Given the description of an element on the screen output the (x, y) to click on. 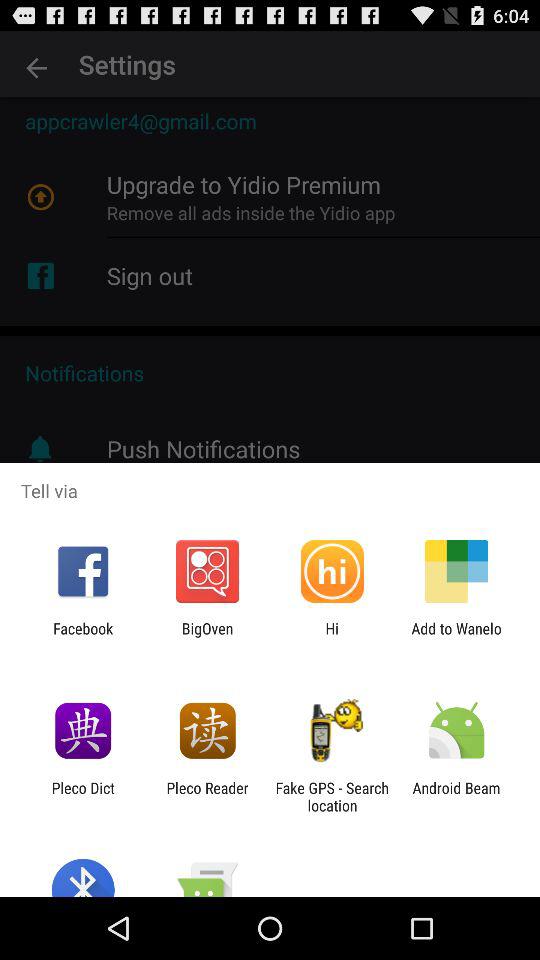
tap the icon next to the add to wanelo item (331, 637)
